Given the description of an element on the screen output the (x, y) to click on. 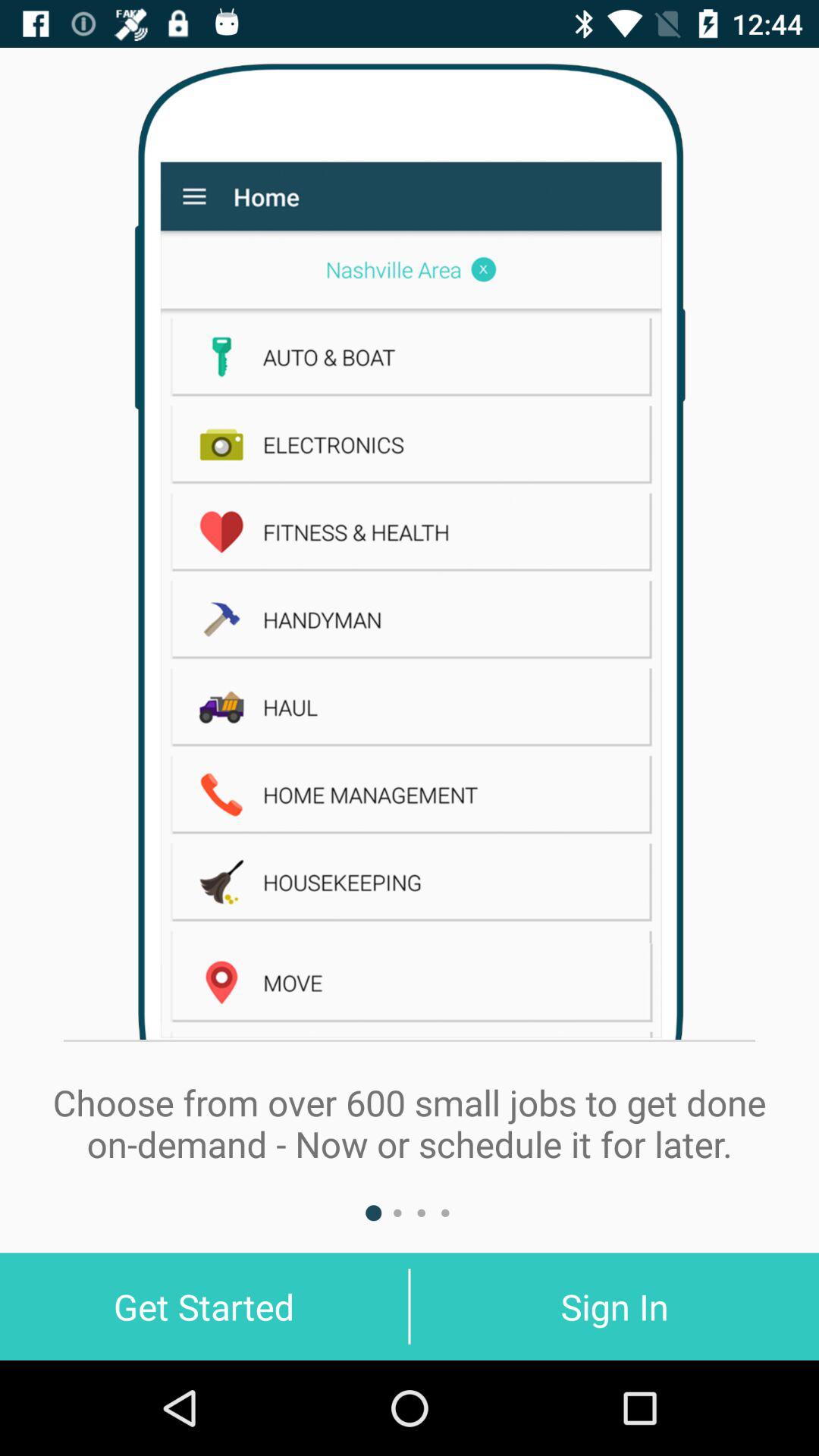
launch the sign in item (614, 1306)
